Given the description of an element on the screen output the (x, y) to click on. 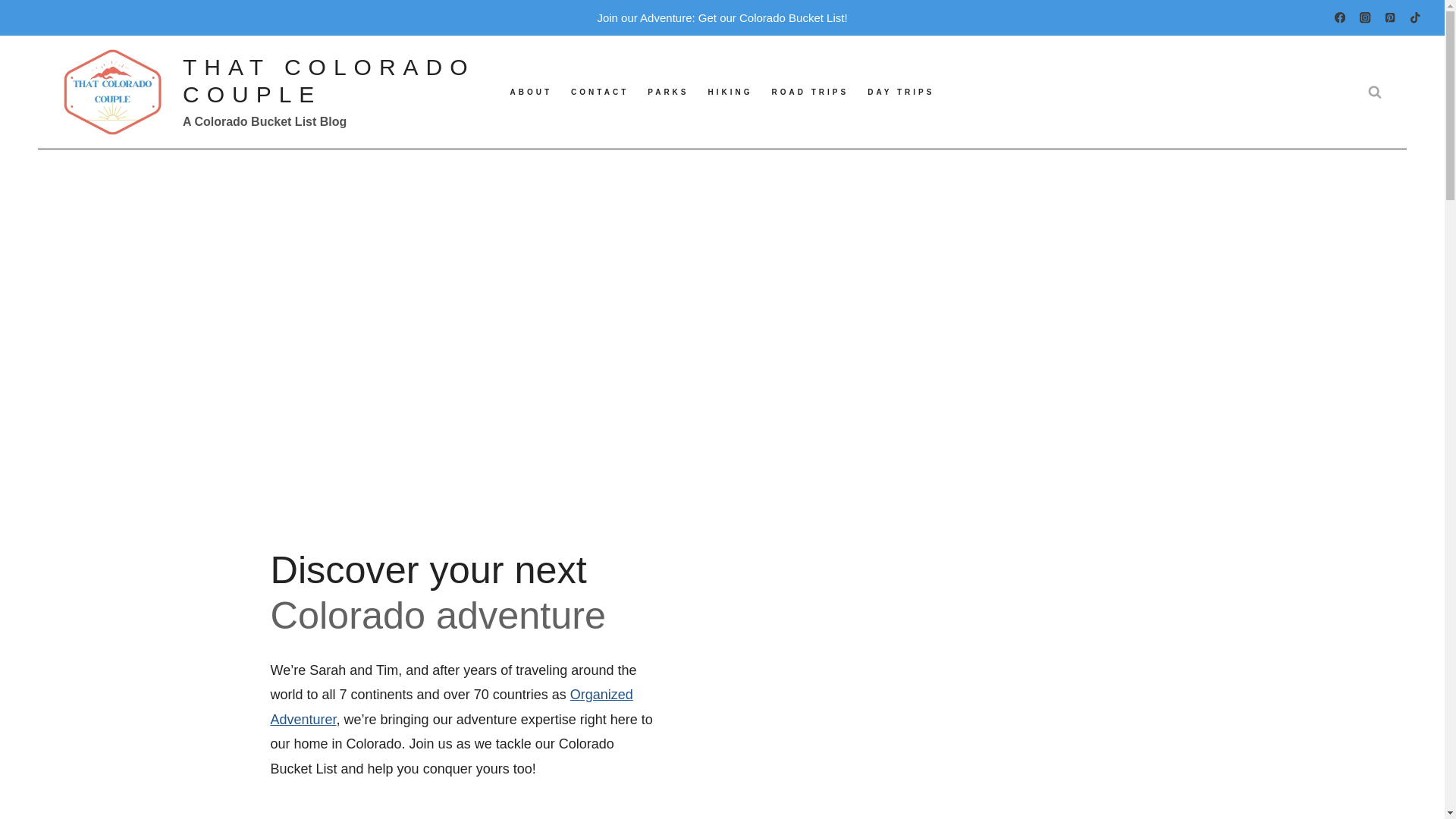
CONTACT (600, 92)
PARKS (668, 92)
ROAD TRIPS (810, 92)
Organized Adventurer (450, 706)
Join our Adventure: Get our Colorado Bucket List! (721, 17)
DAY TRIPS (901, 92)
HIKING (729, 92)
ABOUT (531, 92)
Organized Adventurer (450, 706)
